Given the description of an element on the screen output the (x, y) to click on. 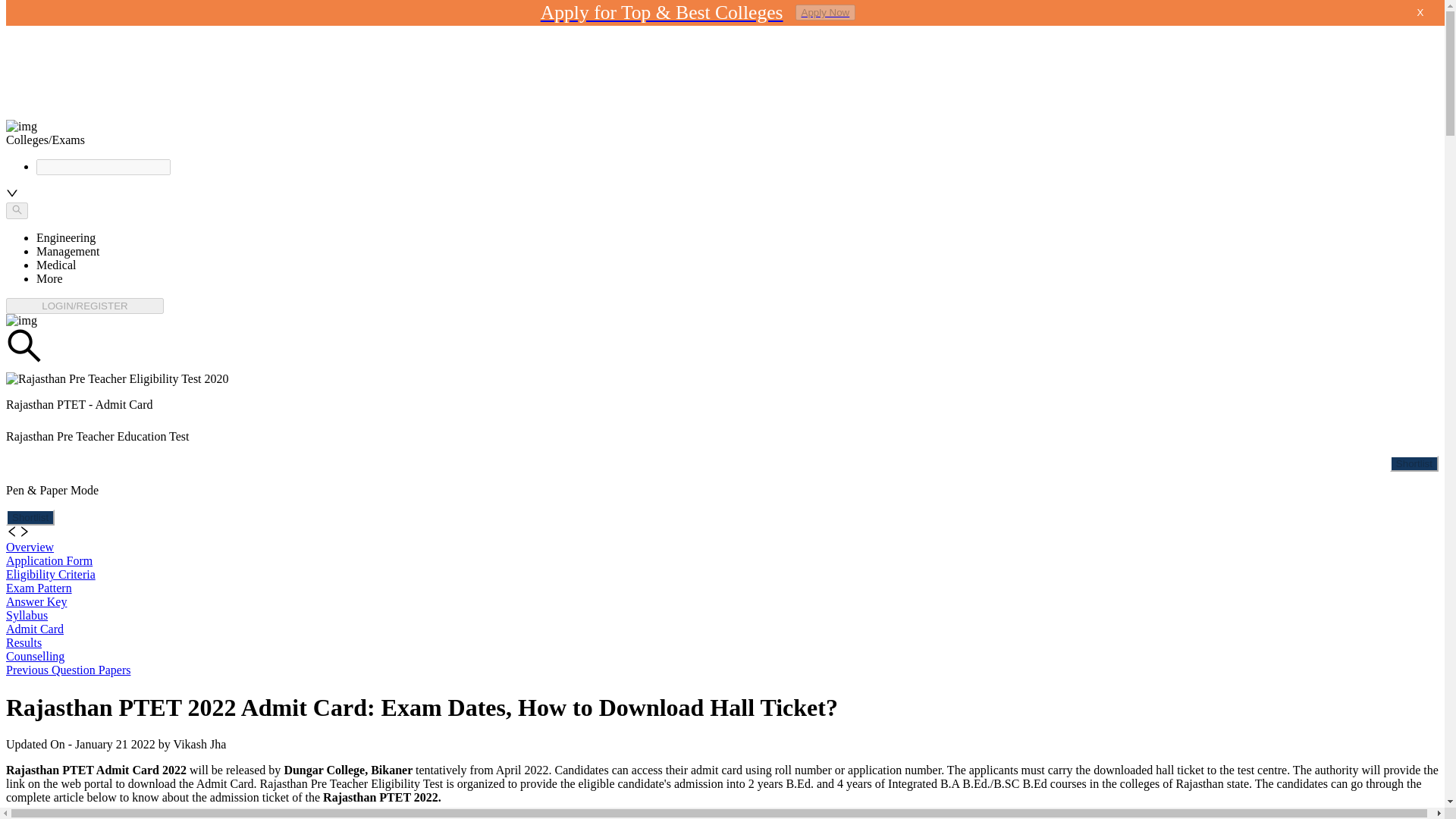
Engineering (66, 237)
Previous Question Papers (68, 669)
Top Colleges (68, 18)
Review Your College (87, 100)
Management (68, 250)
Apply Now (825, 12)
Overview (29, 546)
Eligibility Criteria (50, 574)
Rajasthan Pre Teacher Eligibility Test 2020 (116, 378)
College Compare (78, 73)
